Given the description of an element on the screen output the (x, y) to click on. 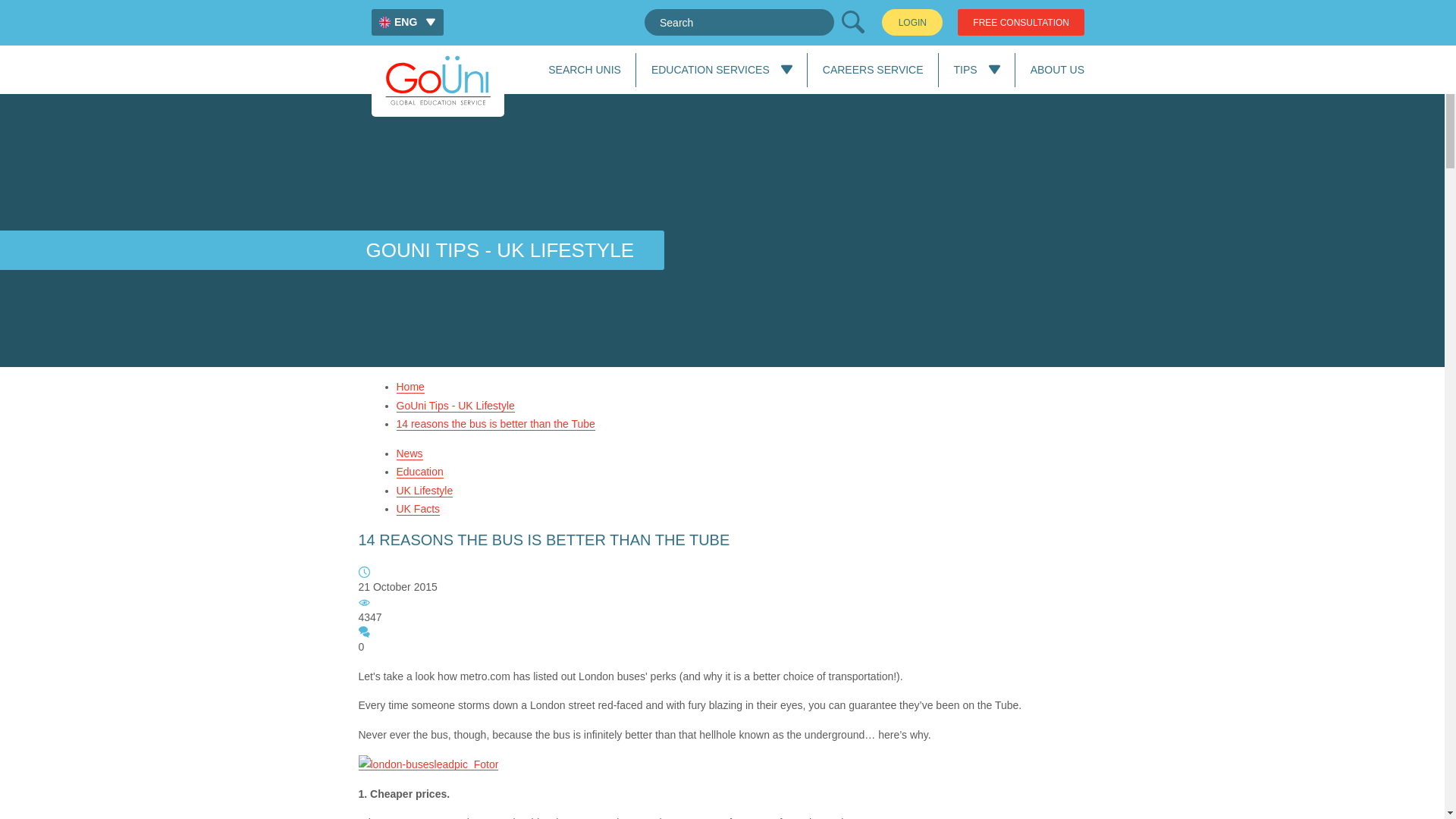
Education (419, 472)
Services (710, 69)
SEARCH UNIS (584, 69)
EDUCATION SERVICES (710, 69)
LOGIN (912, 22)
Tips (964, 69)
UK Facts (417, 508)
About Us (1057, 69)
Search Unis (584, 69)
News (409, 453)
14 reasons the bus is better than the Tube (495, 423)
Free Consultation (1021, 22)
TIPS (964, 69)
FREE CONSULTATION (1021, 22)
Search Unis (872, 69)
